Given the description of an element on the screen output the (x, y) to click on. 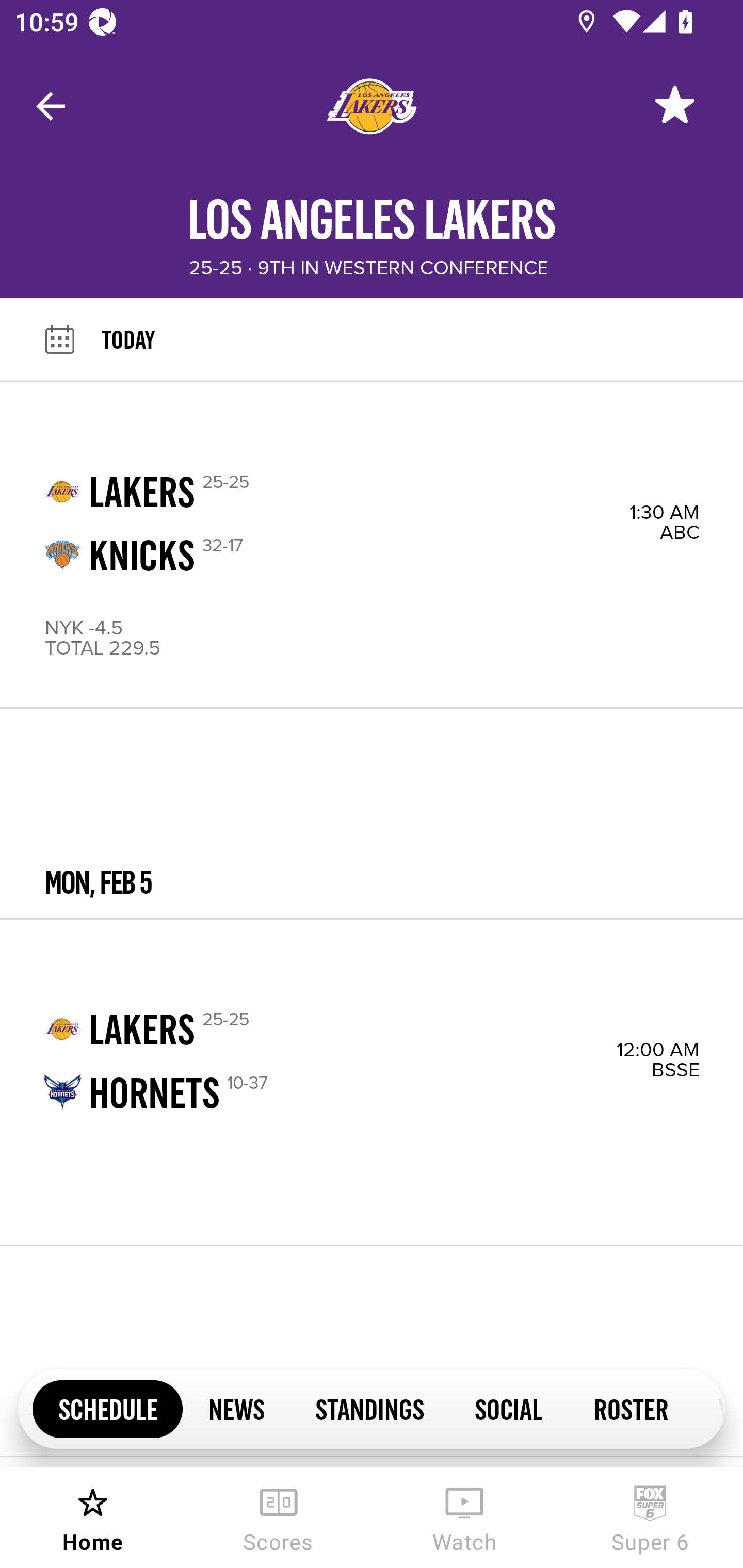
Navigate up (50, 106)
25-25 · 9TH IN WESTERN CONFERENCE (368, 267)
TODAY (422, 339)
MON, FEB 5 (371, 813)
LAKERS 25-25 12:00 AM HORNETS 10-37 BSSE (371, 1082)
NEWS (235, 1408)
STANDINGS (369, 1408)
SOCIAL (508, 1408)
ROSTER (630, 1408)
Scores (278, 1517)
Watch (464, 1517)
Super 6 (650, 1517)
